Given the description of an element on the screen output the (x, y) to click on. 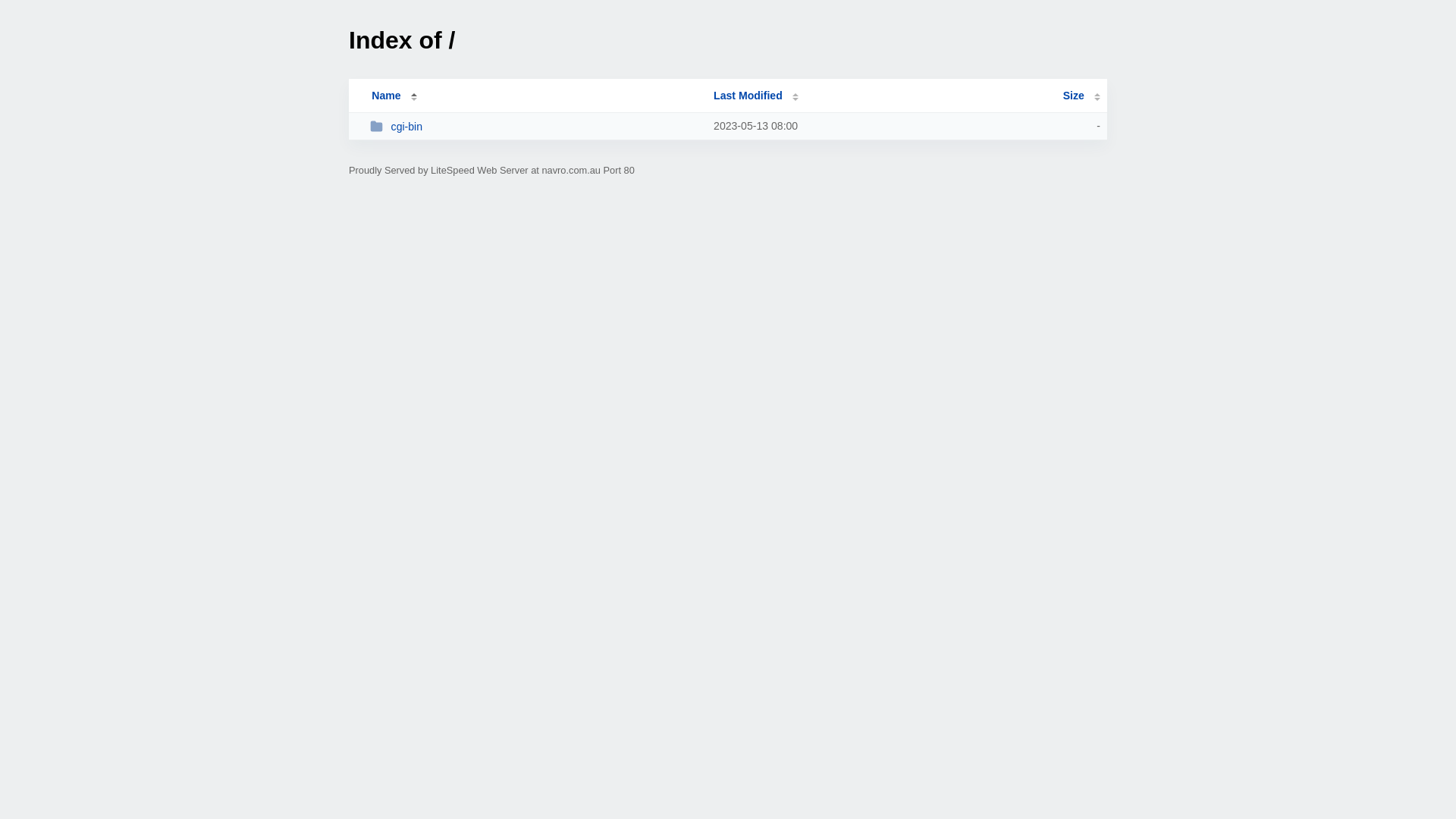
Name Element type: text (385, 95)
cgi-bin Element type: text (534, 125)
Last Modified Element type: text (755, 95)
Size Element type: text (1081, 95)
